Given the description of an element on the screen output the (x, y) to click on. 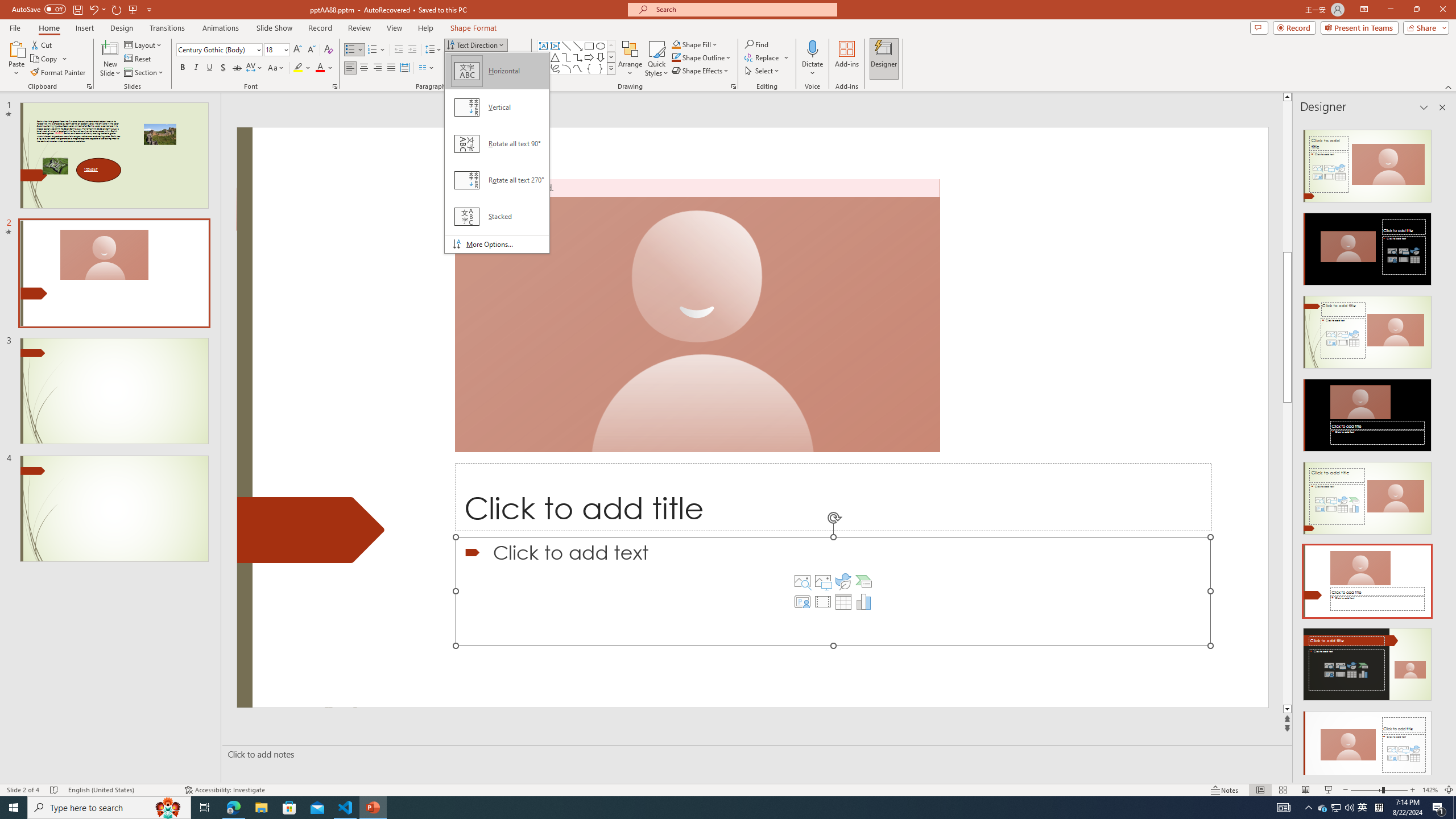
Content Placeholder (832, 591)
